Given the description of an element on the screen output the (x, y) to click on. 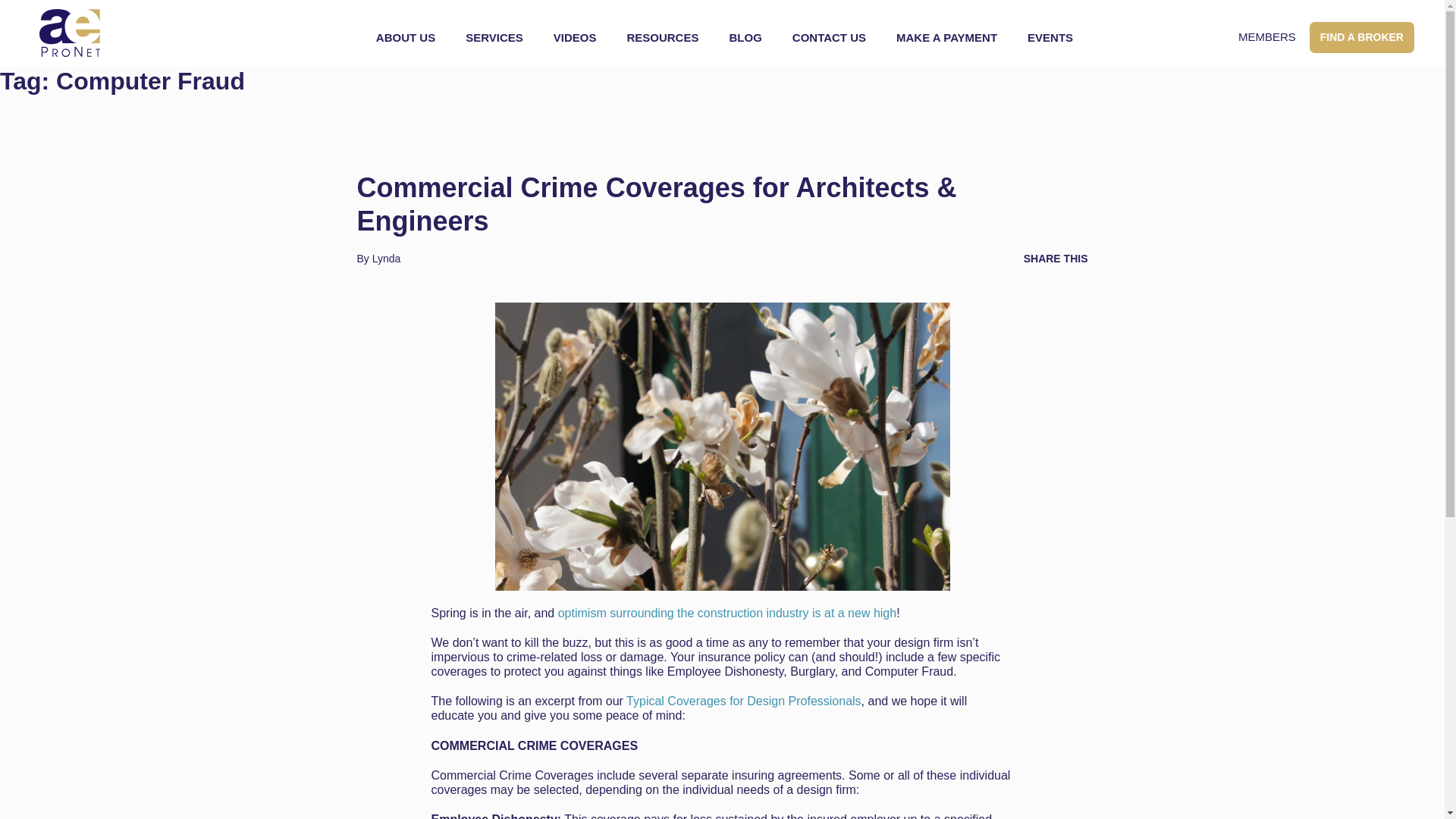
MAKE A PAYMENT (946, 37)
EVENTS (1050, 37)
Typical Coverages for Design Professionals (743, 700)
BLOG (744, 37)
FIND A BROKER (1360, 37)
MEMBERS (1267, 36)
SERVICES (494, 37)
RESOURCES (662, 37)
CONTACT US (828, 37)
